Given the description of an element on the screen output the (x, y) to click on. 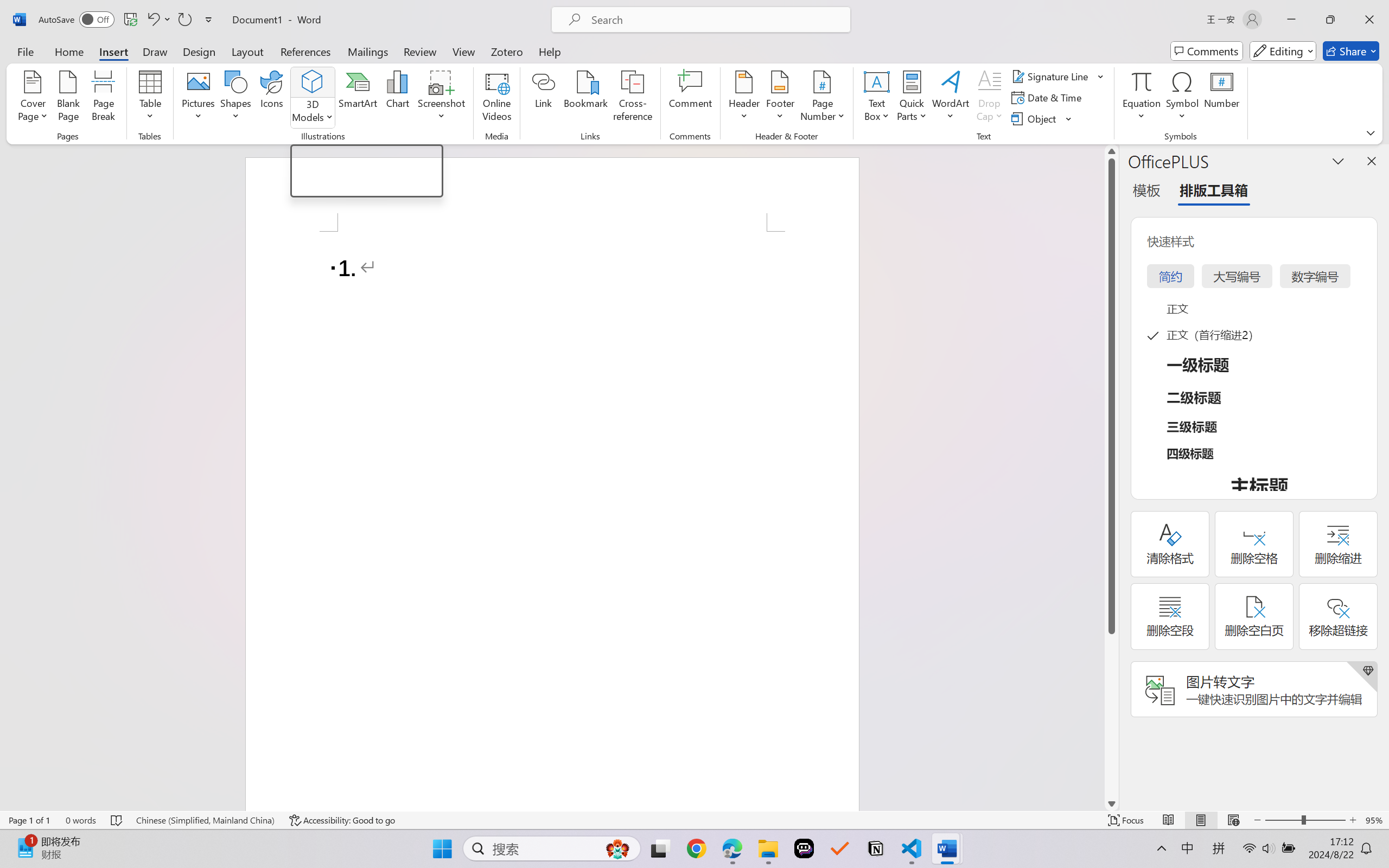
Comment (689, 97)
Line up (1111, 150)
Chart... (396, 97)
Symbol (1181, 97)
Zoom 95% (1374, 819)
Object... (1035, 118)
